Given the description of an element on the screen output the (x, y) to click on. 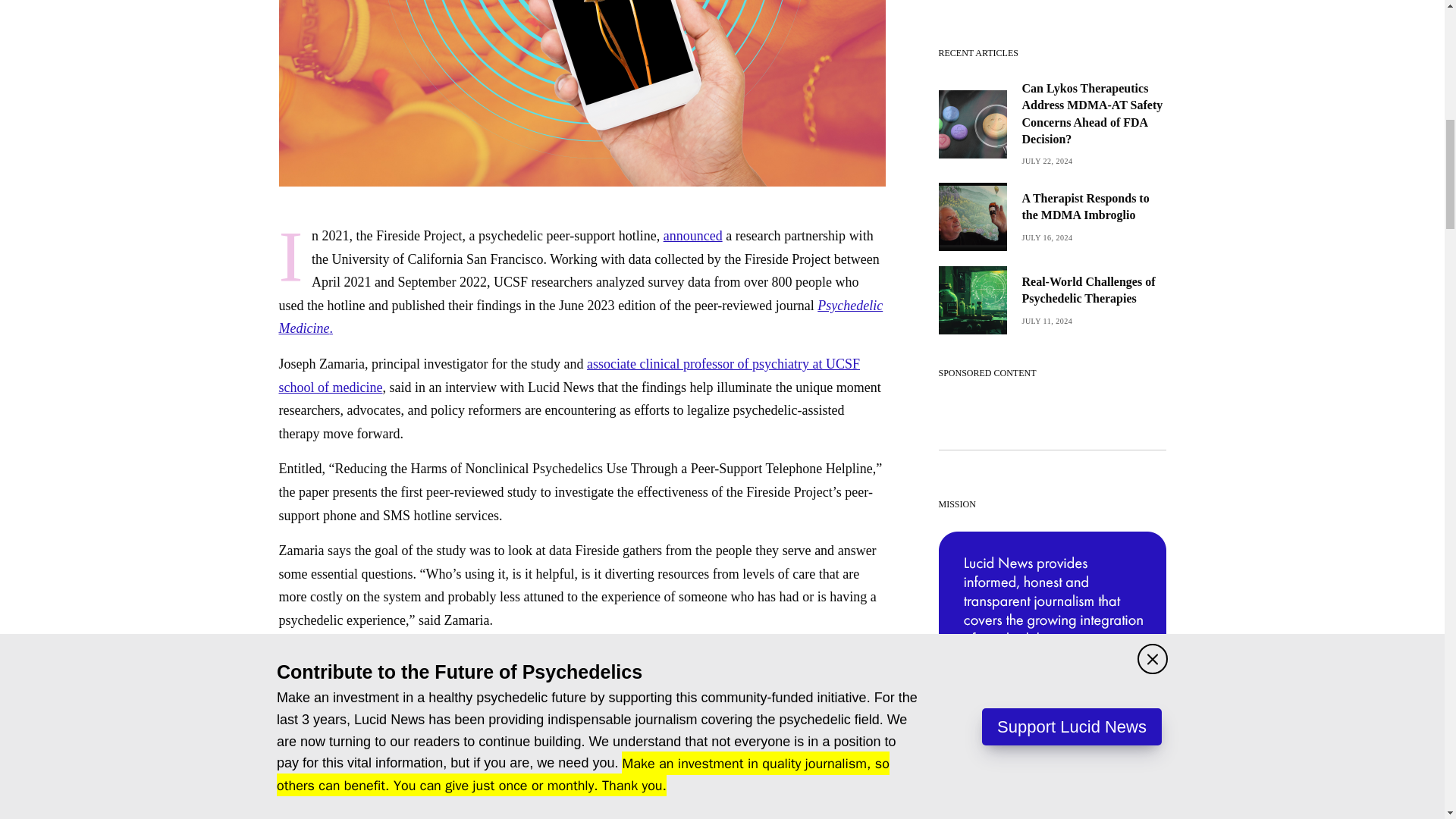
A Therapist Responds to the MDMA Imbroglio (1094, 207)
Real-World Challenges of Psychedelic Therapies (1094, 290)
